Given the description of an element on the screen output the (x, y) to click on. 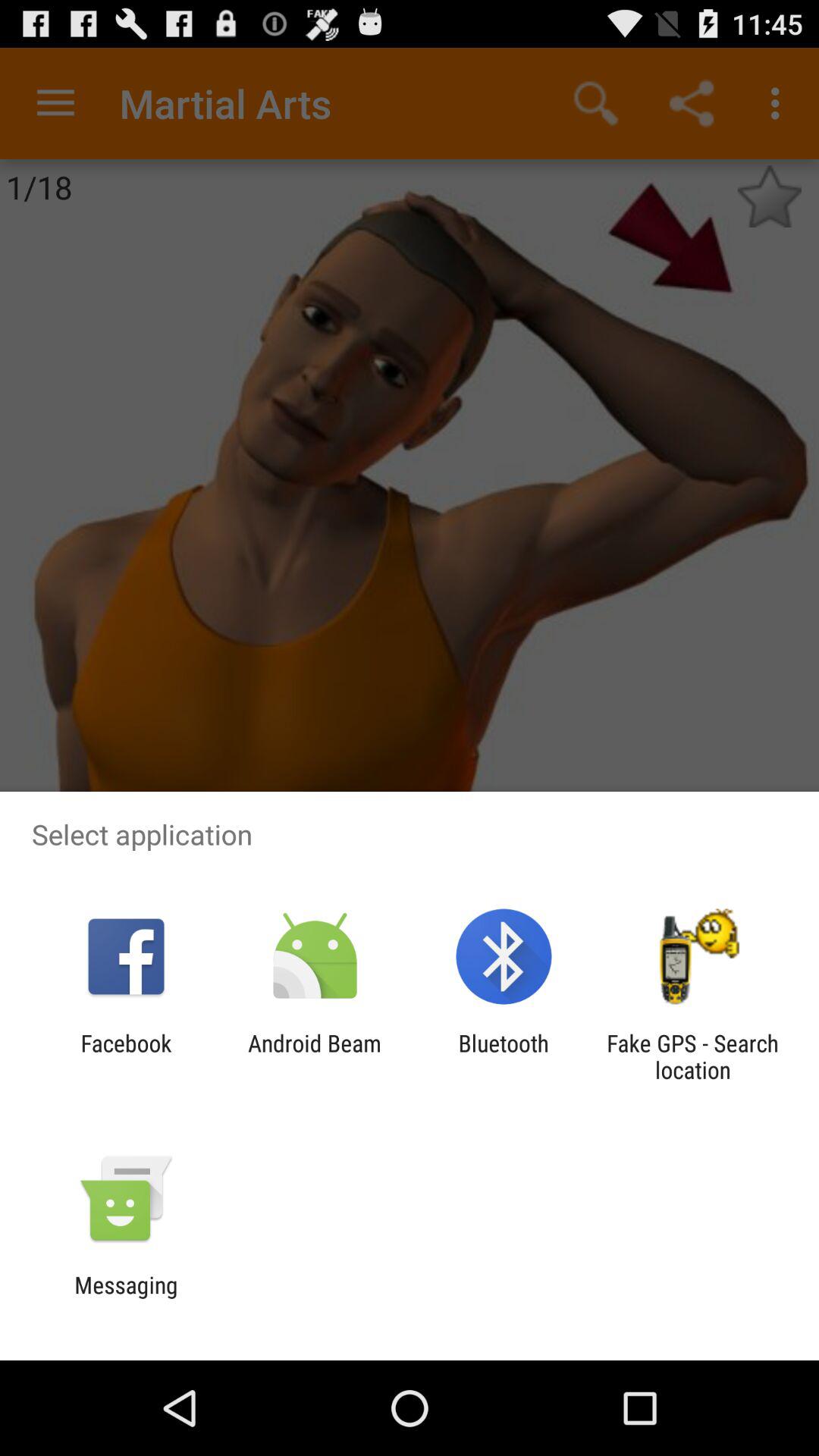
swipe until messaging (126, 1298)
